Given the description of an element on the screen output the (x, y) to click on. 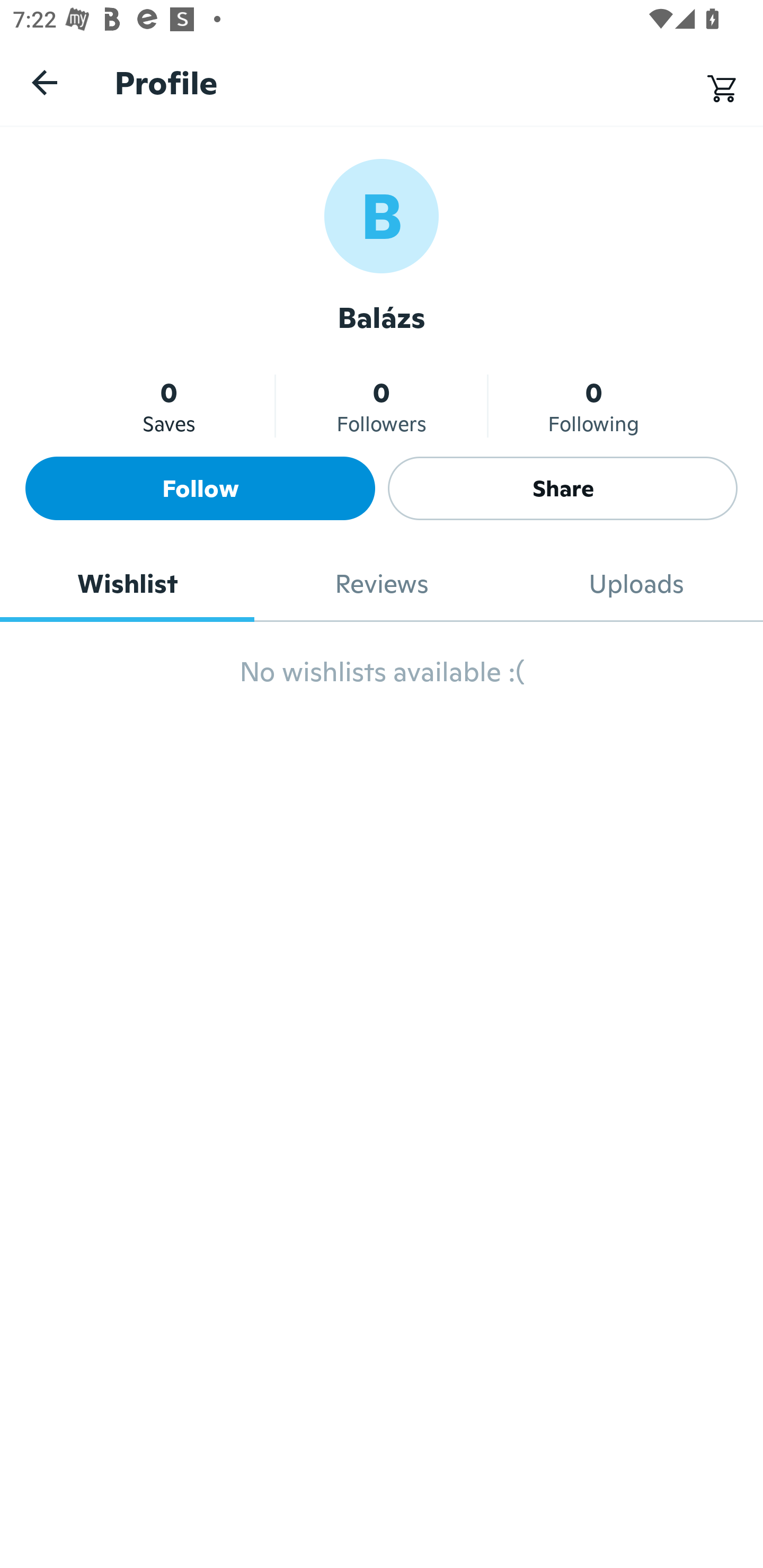
Navigate up (44, 82)
B (381, 215)
0 Followers (381, 405)
0 Following (593, 405)
Follow (200, 488)
Share (562, 488)
Wishlist (127, 583)
Reviews (381, 583)
Uploads (635, 583)
No wishlists available :( (381, 679)
